Given the description of an element on the screen output the (x, y) to click on. 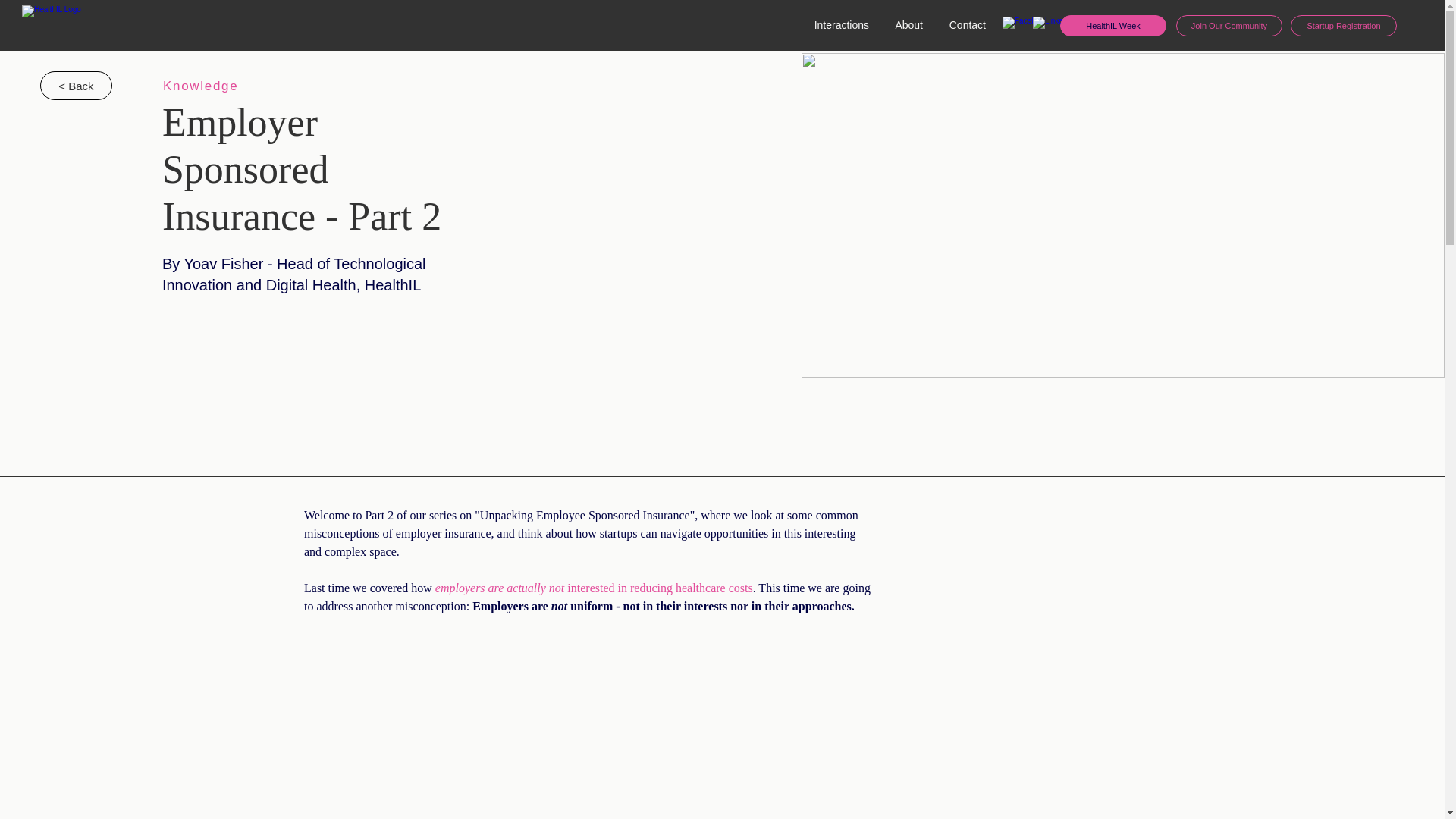
About (907, 25)
interested in reducing healthcare costs (659, 587)
Contact (965, 25)
employers are actually not (499, 587)
Startup Registration (1343, 25)
Interactions (838, 25)
Join Our Community (1229, 25)
HealthIL Week (1112, 25)
